Given the description of an element on the screen output the (x, y) to click on. 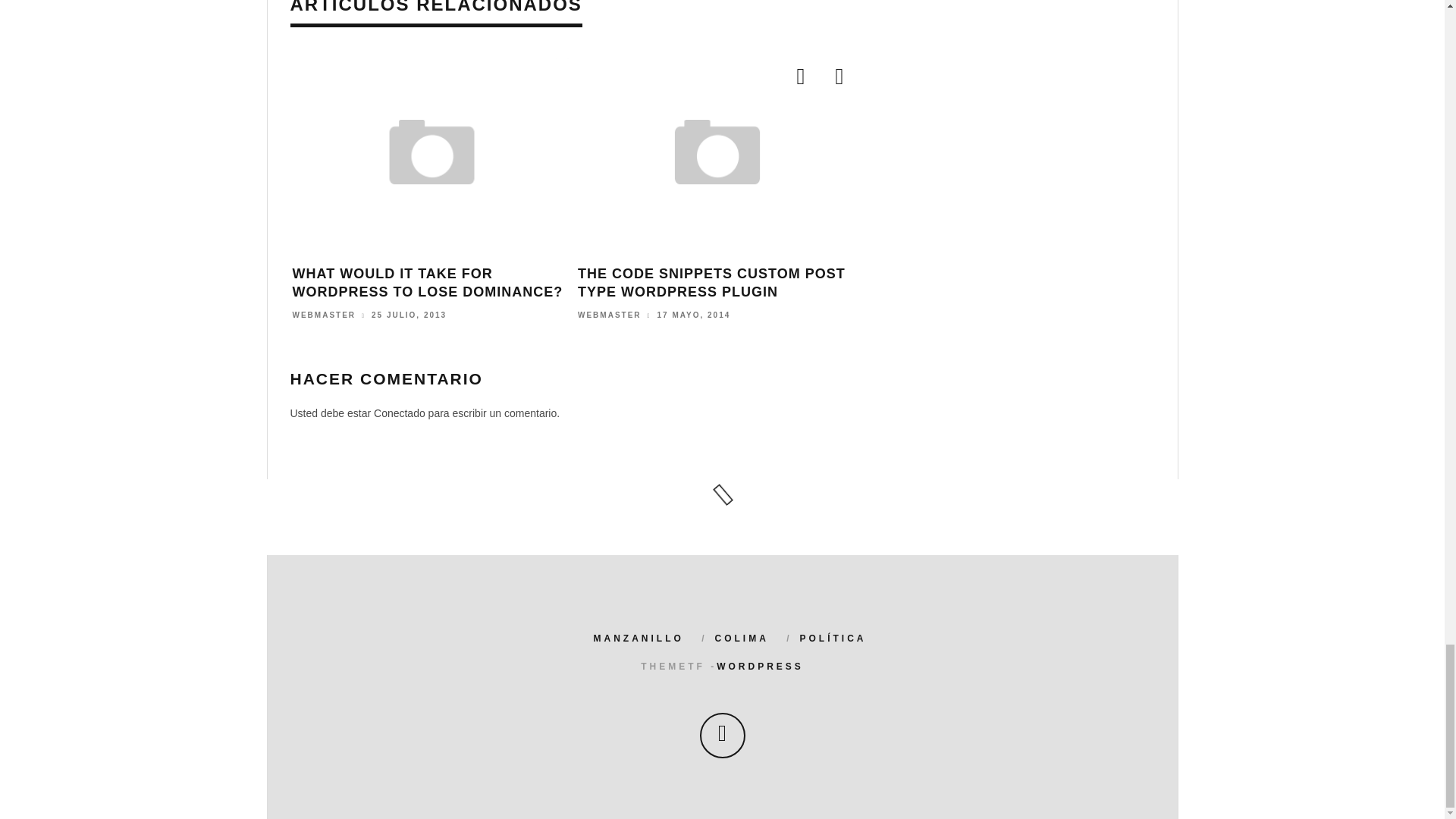
WordPress Magazine Theme (759, 665)
